Given the description of an element on the screen output the (x, y) to click on. 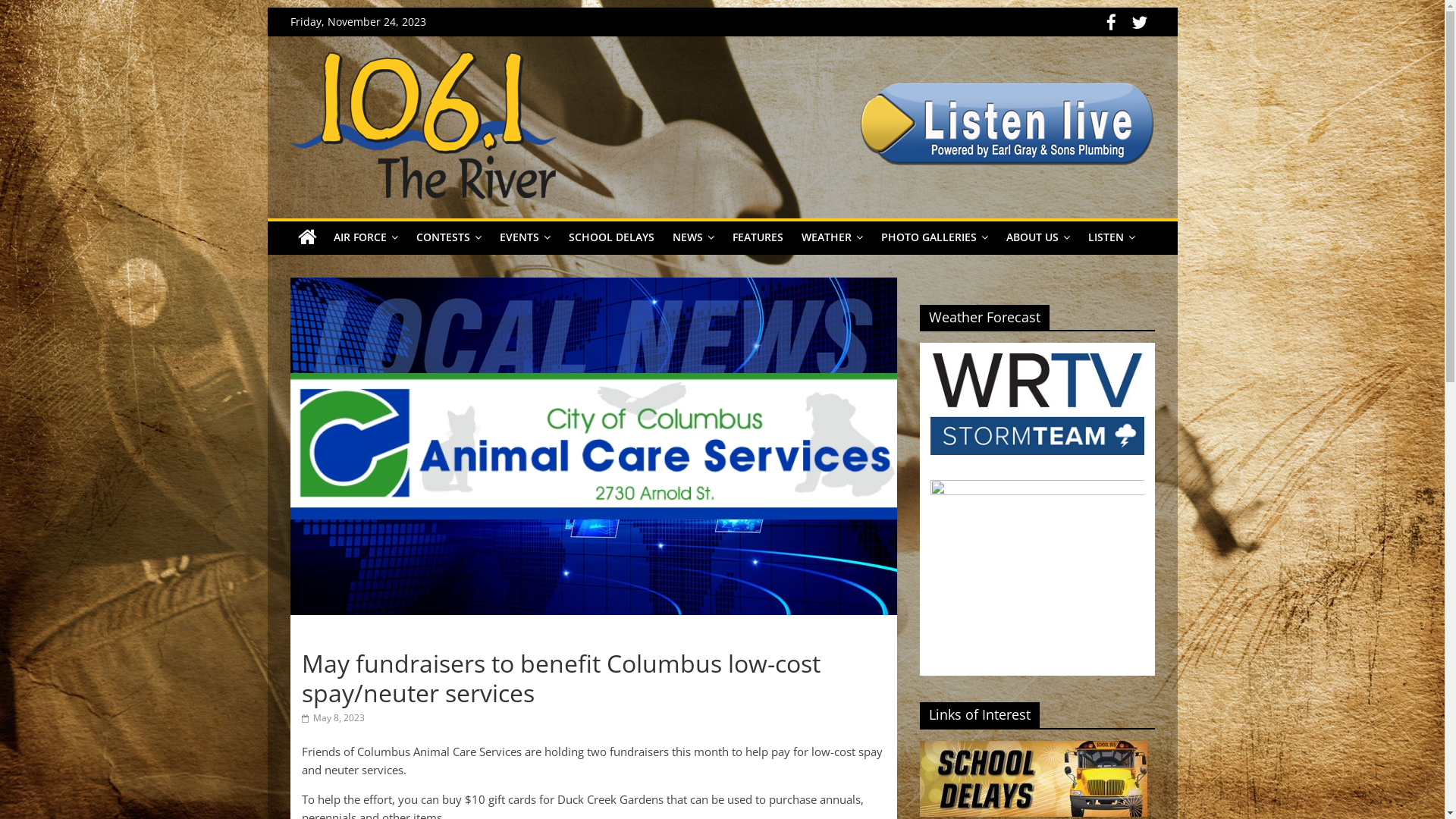
ABOUT US Element type: text (1037, 237)
NEWS Element type: text (692, 237)
LISTEN Element type: text (1110, 237)
WEATHER Element type: text (831, 237)
FEATURES Element type: text (757, 237)
May 8, 2023 Element type: text (332, 717)
EVENTS Element type: text (523, 237)
AIR FORCE Element type: text (365, 237)
SCHOOL DELAYS Element type: text (611, 237)
CONTESTS Element type: text (447, 237)
PHOTO GALLERIES Element type: text (934, 237)
